Given the description of an element on the screen output the (x, y) to click on. 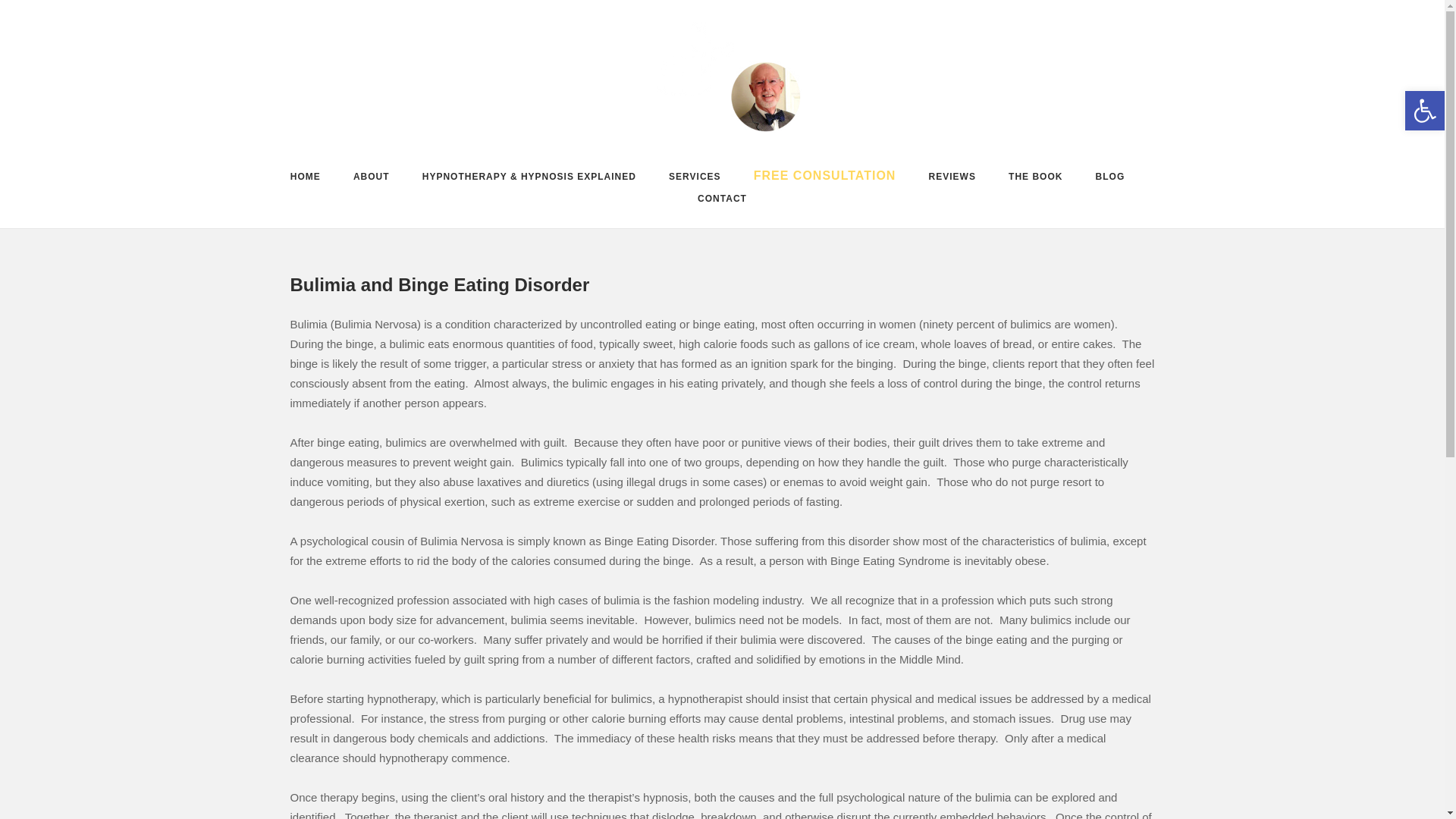
FREE CONSULTATION (825, 178)
Accessibility Tools (1424, 110)
REVIEWS (951, 179)
HOME (304, 179)
CONTACT (721, 201)
BLOG (1110, 179)
SERVICES (694, 179)
THE BOOK (1035, 179)
ABOUT (371, 179)
